Given the description of an element on the screen output the (x, y) to click on. 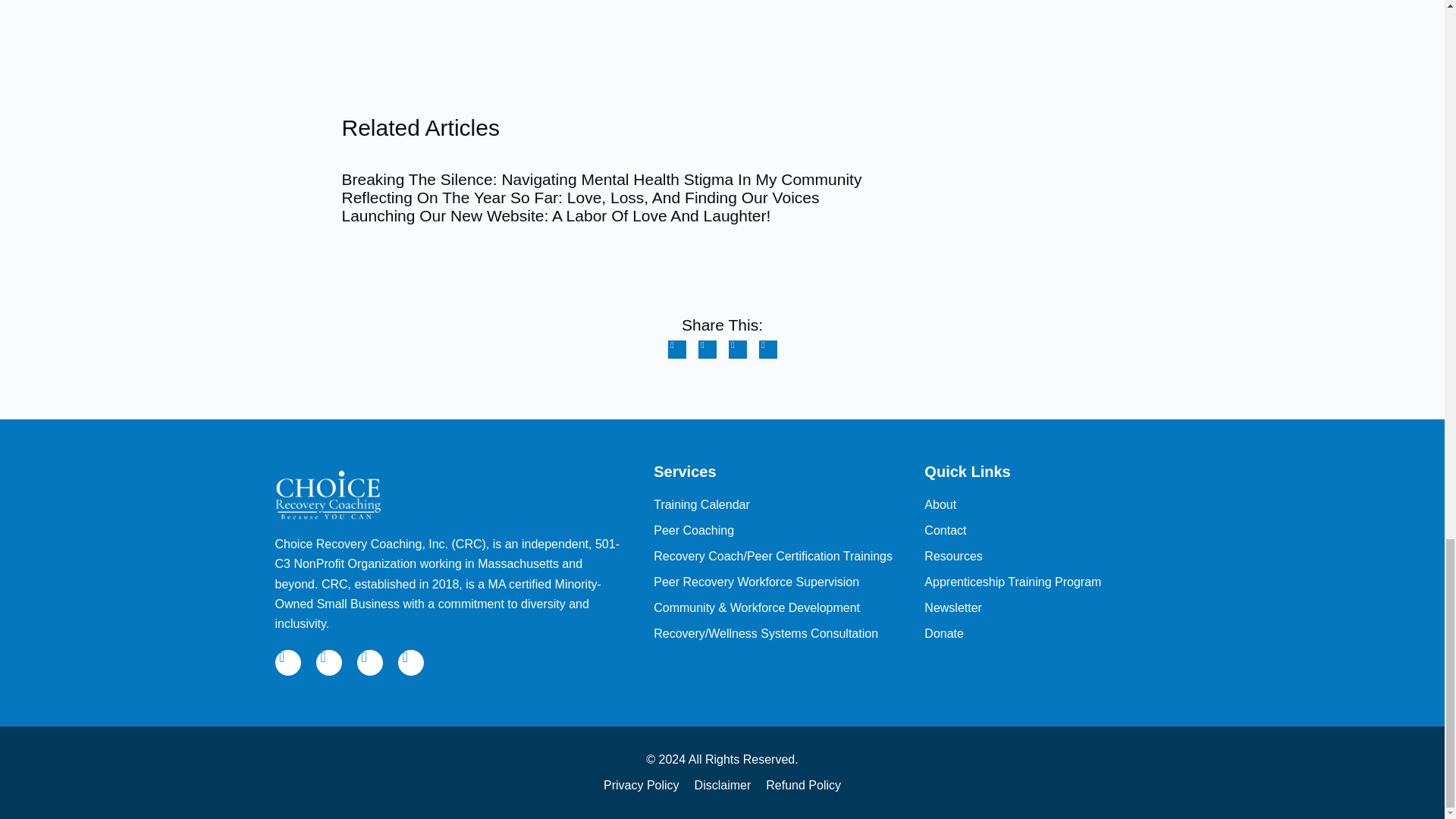
Launching Our New Website: A Labor Of Love And Laughter! (555, 215)
